Given the description of an element on the screen output the (x, y) to click on. 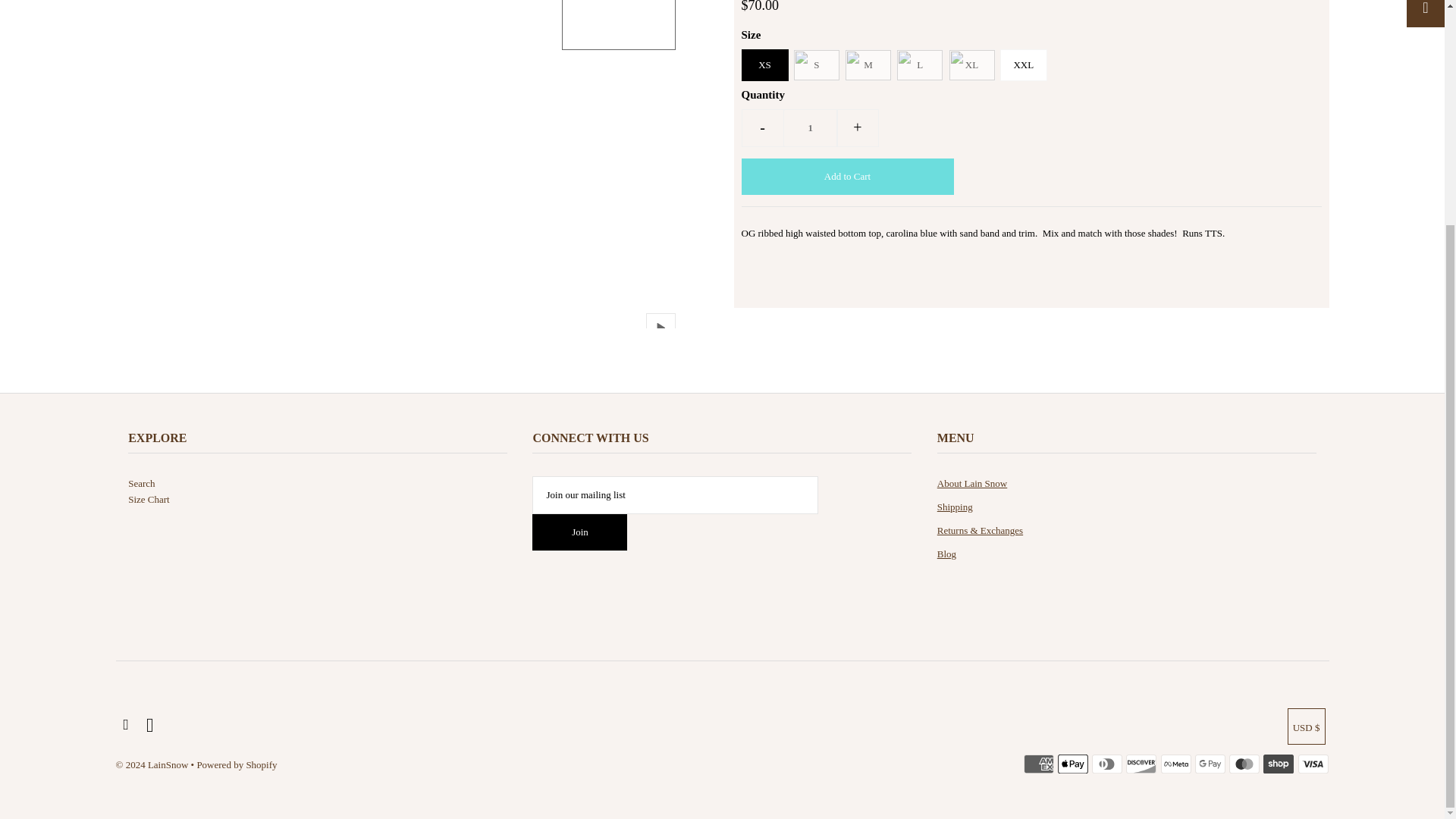
Visa (1312, 763)
Apple Pay (1072, 763)
American Express (1038, 763)
Diners Club (1107, 763)
Add to Cart (847, 176)
About Lain Snow (972, 482)
Discover (1140, 763)
Meta Pay (1175, 763)
Join (579, 532)
Mastercard (1243, 763)
